Given the description of an element on the screen output the (x, y) to click on. 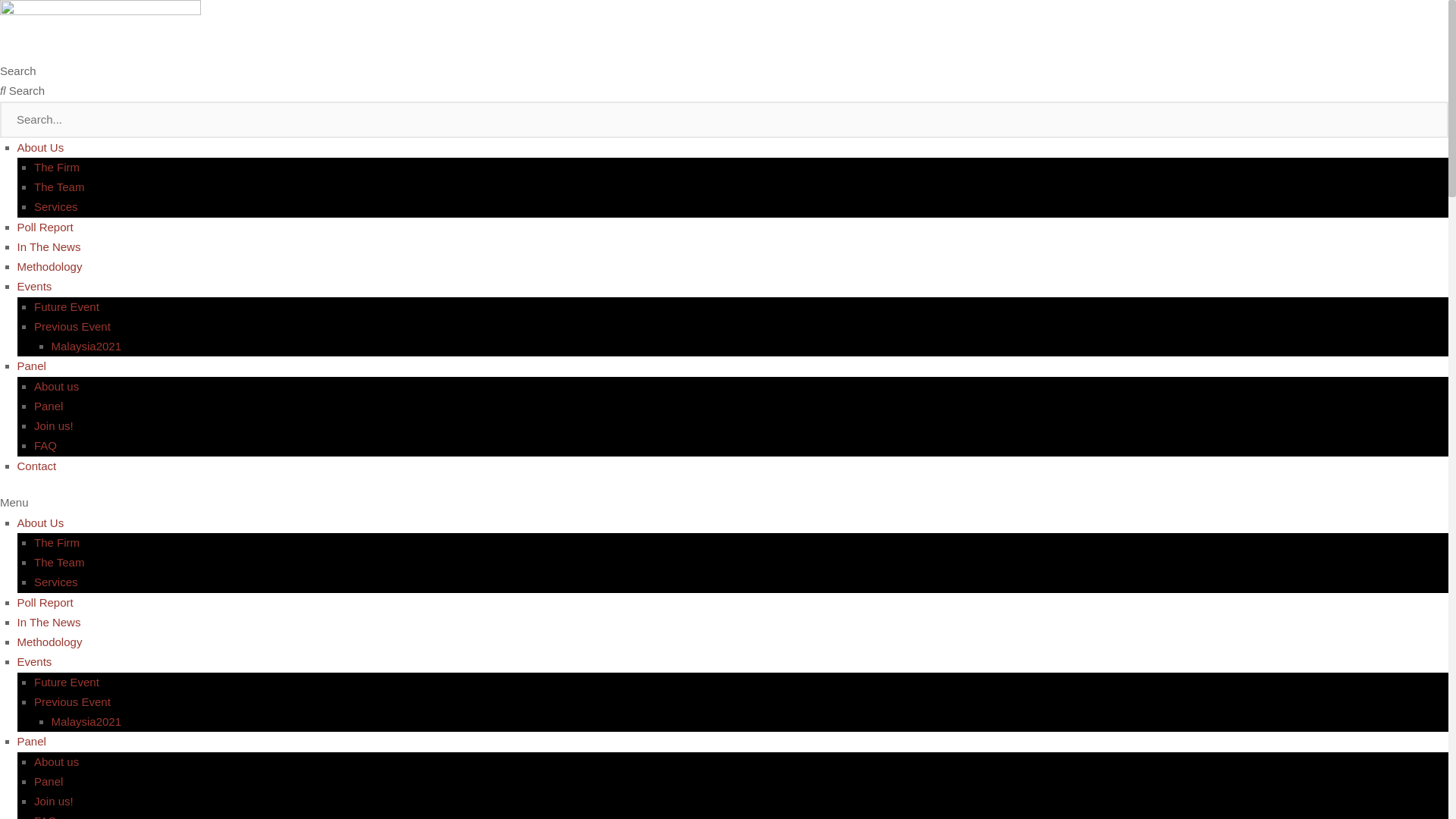
Panel (30, 740)
Methodology (48, 266)
Join us! (53, 800)
Panel (47, 405)
About us (55, 385)
The Firm (56, 166)
About Us (40, 146)
Malaysia2021 (86, 345)
Services (55, 205)
The Firm (56, 542)
